Given the description of an element on the screen output the (x, y) to click on. 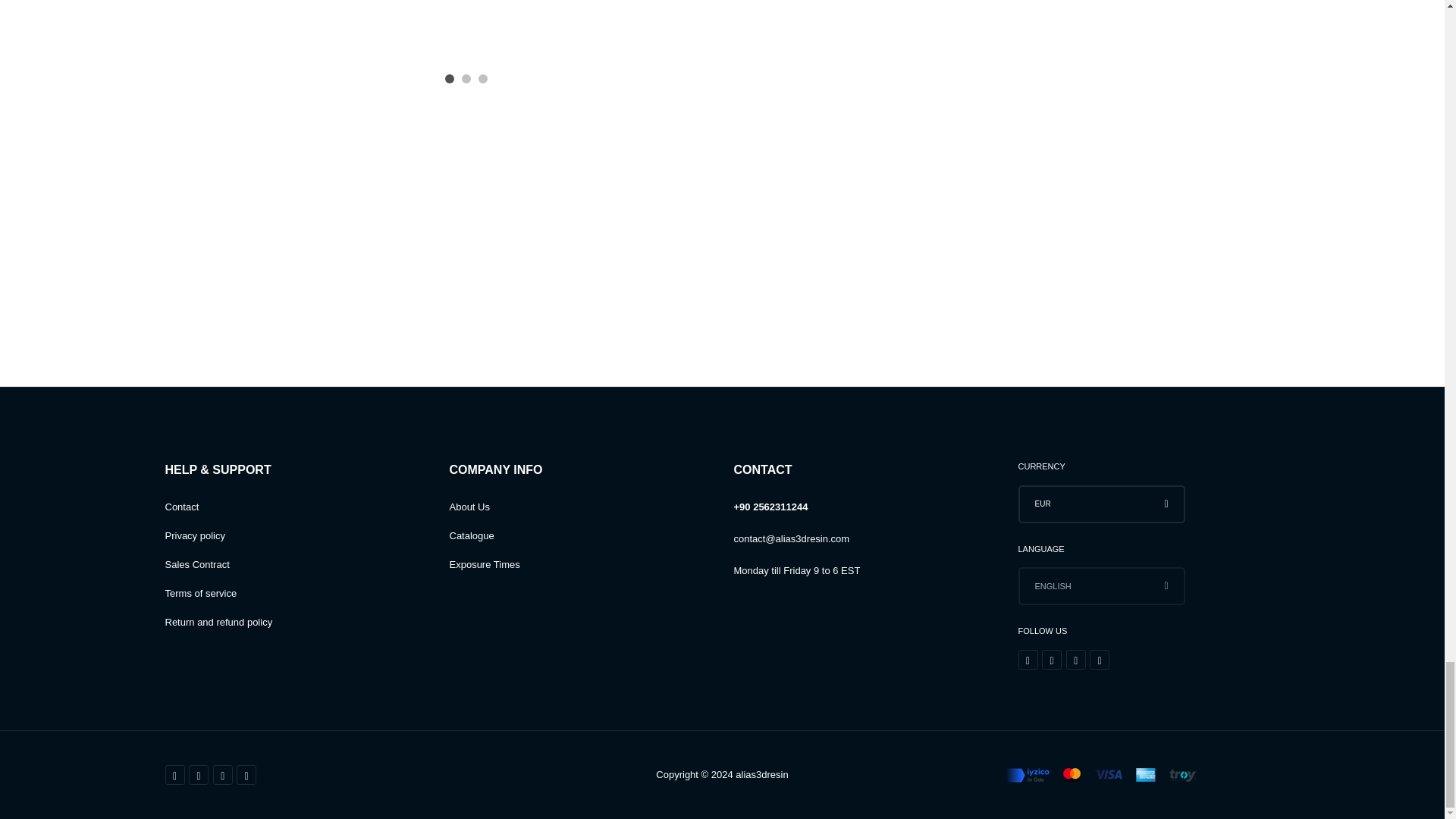
alias resin on YouTube (1099, 659)
alias resin on Instagram (1051, 659)
alias resin on Twitter (1075, 659)
alias resin on Facebook (1026, 659)
